Given the description of an element on the screen output the (x, y) to click on. 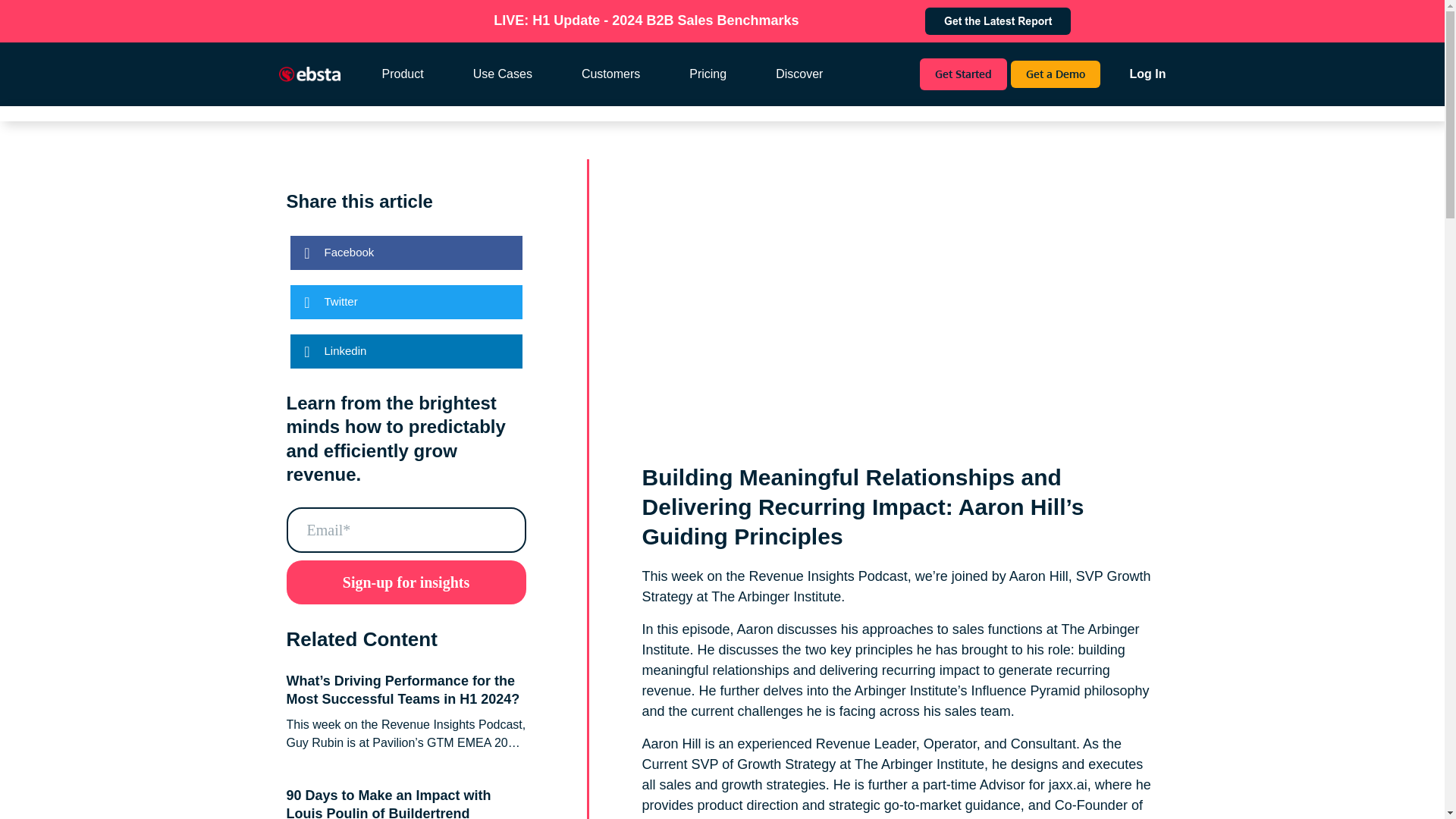
Use Cases (515, 73)
Sign-up for insights (405, 582)
Customers (624, 73)
Product (415, 73)
Ebsta-Logo-192 (309, 74)
